Given the description of an element on the screen output the (x, y) to click on. 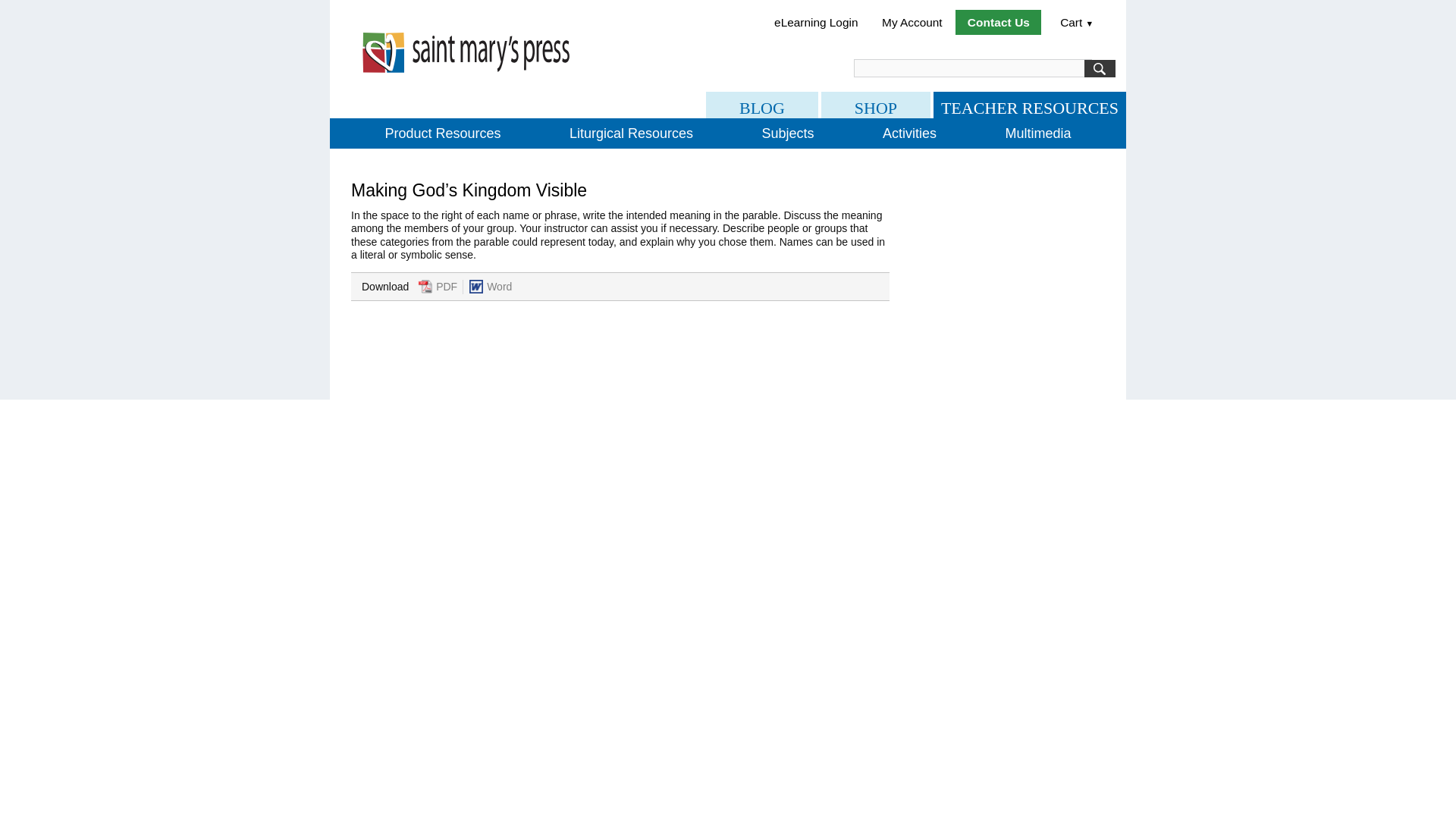
eLearning Login (814, 21)
Contact Us (998, 21)
BLOG (762, 104)
Download (475, 286)
Product Resources (442, 132)
TEACHER RESOURCES (1029, 104)
My Account (911, 21)
SHOP (875, 104)
Download (424, 286)
